Given the description of an element on the screen output the (x, y) to click on. 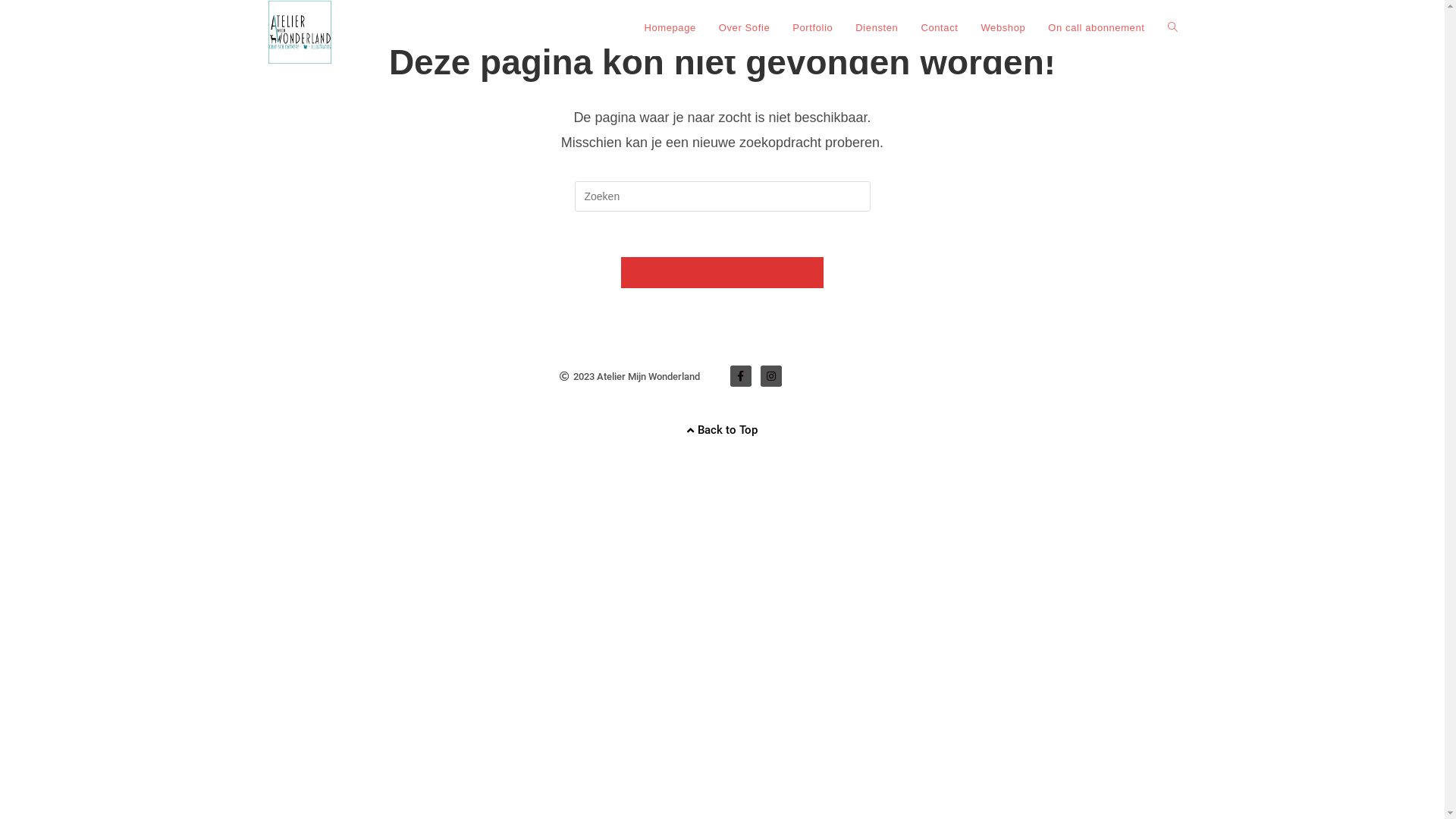
Over Sofie Element type: text (744, 28)
TERUG NAAR DE HOMEPAGE Element type: text (722, 272)
Webshop Element type: text (1002, 28)
2023 Atelier Mijn Wonderland Element type: text (629, 376)
Diensten Element type: text (876, 28)
Back to Top Element type: text (721, 430)
Contact Element type: text (939, 28)
Portfolio Element type: text (812, 28)
On call abonnement Element type: text (1095, 28)
Homepage Element type: text (669, 28)
